Given the description of an element on the screen output the (x, y) to click on. 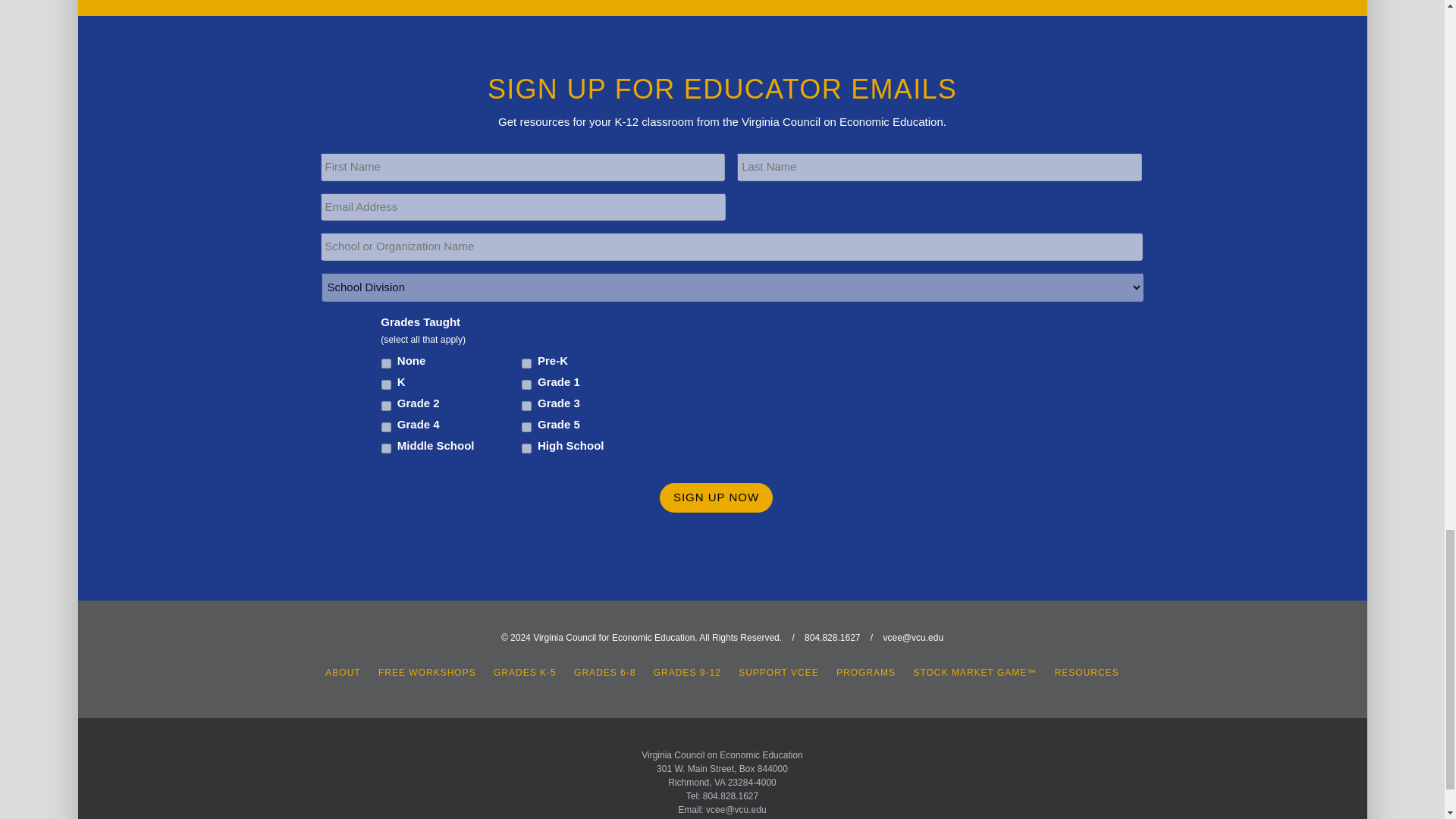
Pre-K (526, 363)
Middle School (386, 448)
None (386, 363)
High School (526, 448)
Grade 2 (386, 406)
Sign Up Now (716, 497)
K (386, 384)
Grade 4 (386, 427)
Grade 1 (526, 384)
Grade 5 (526, 427)
